Given the description of an element on the screen output the (x, y) to click on. 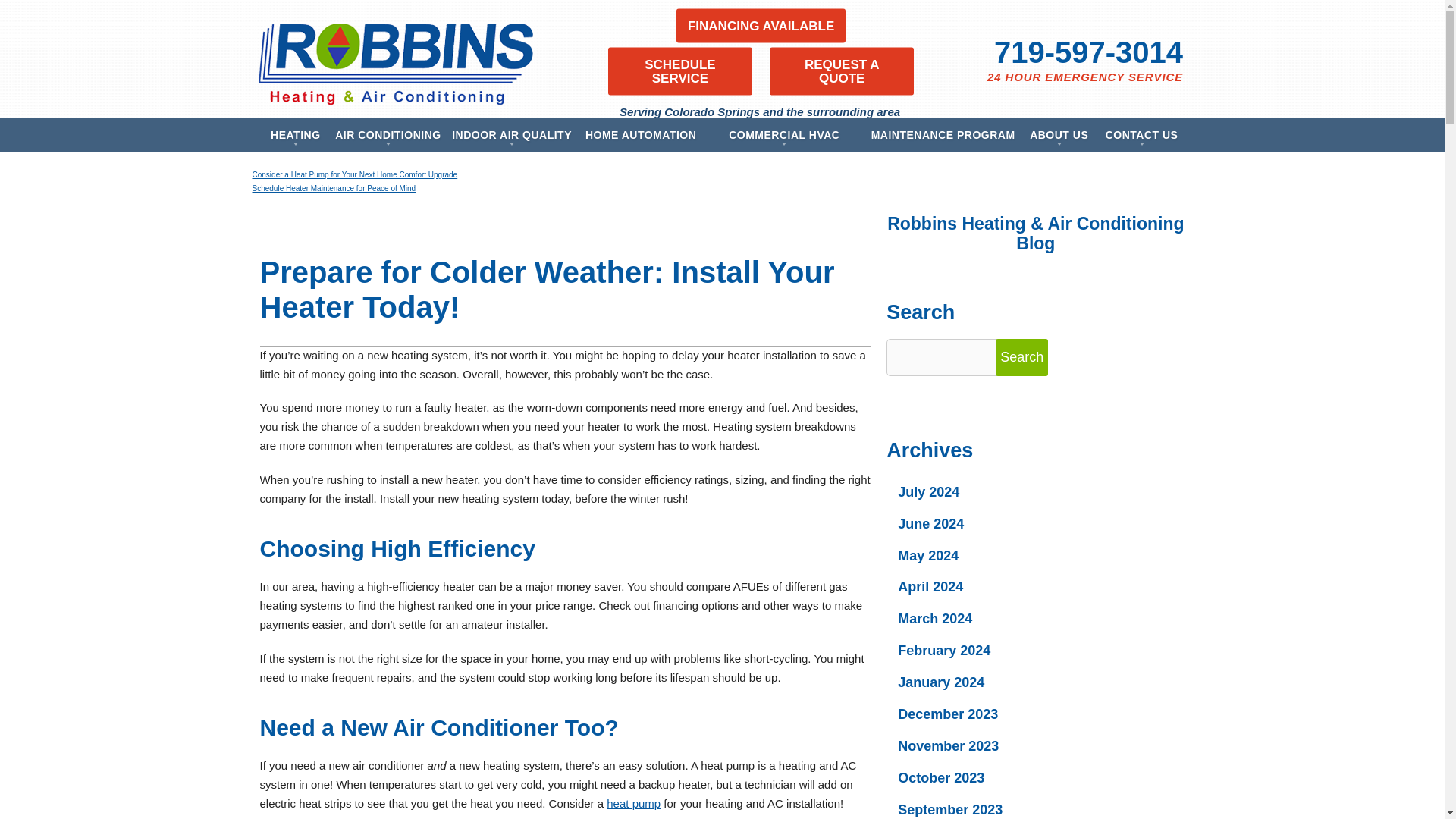
SCHEDULE SERVICE (680, 70)
AIR CONDITIONING (387, 134)
HEATING (295, 134)
719-597-3014 (1088, 52)
HOME AUTOMATION (640, 134)
FINANCING AVAILABLE (761, 25)
INDOOR AIR QUALITY (511, 134)
REQUEST A QUOTE (842, 70)
